Given the description of an element on the screen output the (x, y) to click on. 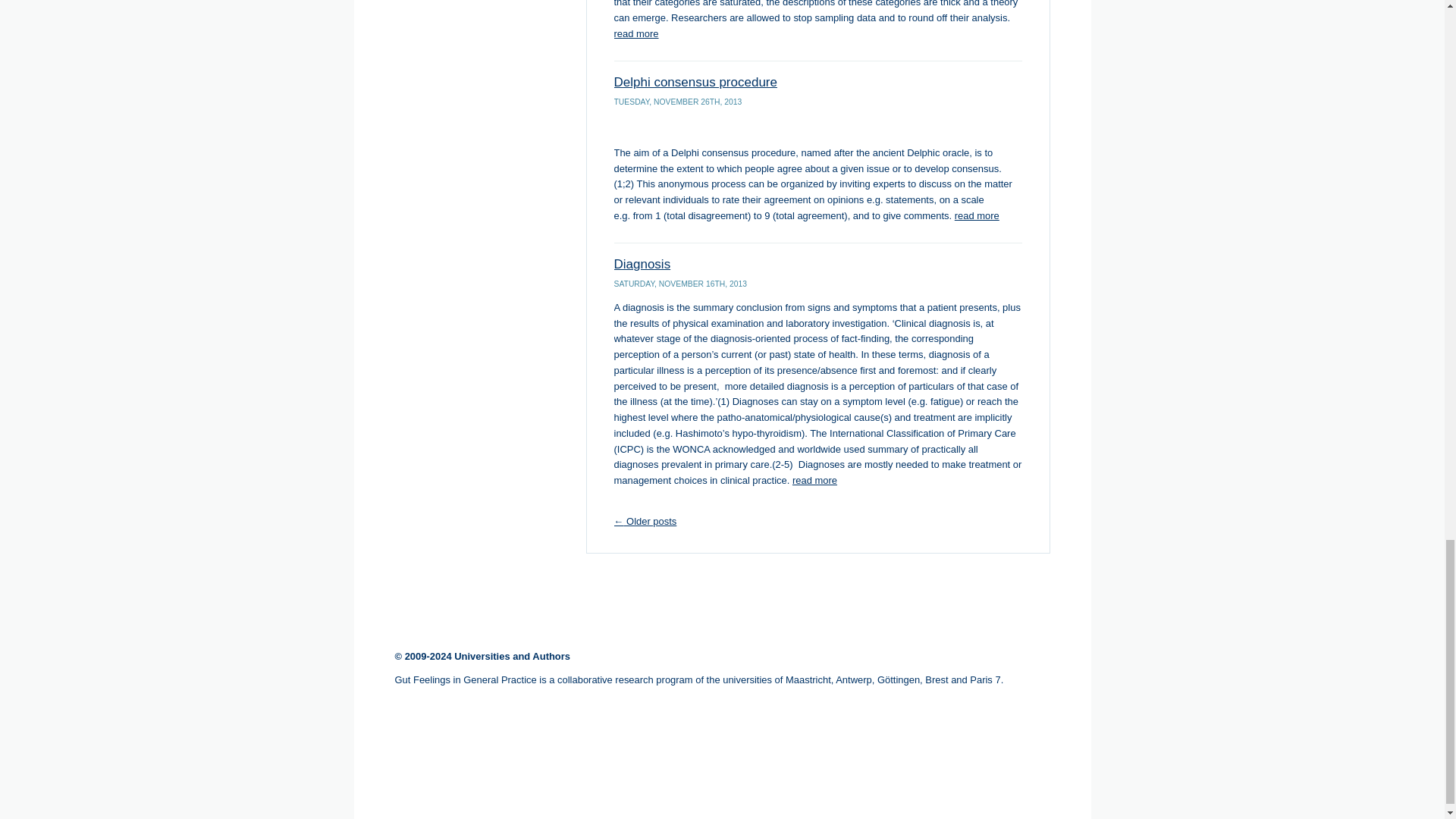
read more (976, 215)
Permalink to Diagnosis (642, 264)
Delphi consensus procedure (695, 82)
Permalink to Delphi consensus procedure (695, 82)
Diagnosis (642, 264)
read more (814, 480)
read more (636, 33)
